Given the description of an element on the screen output the (x, y) to click on. 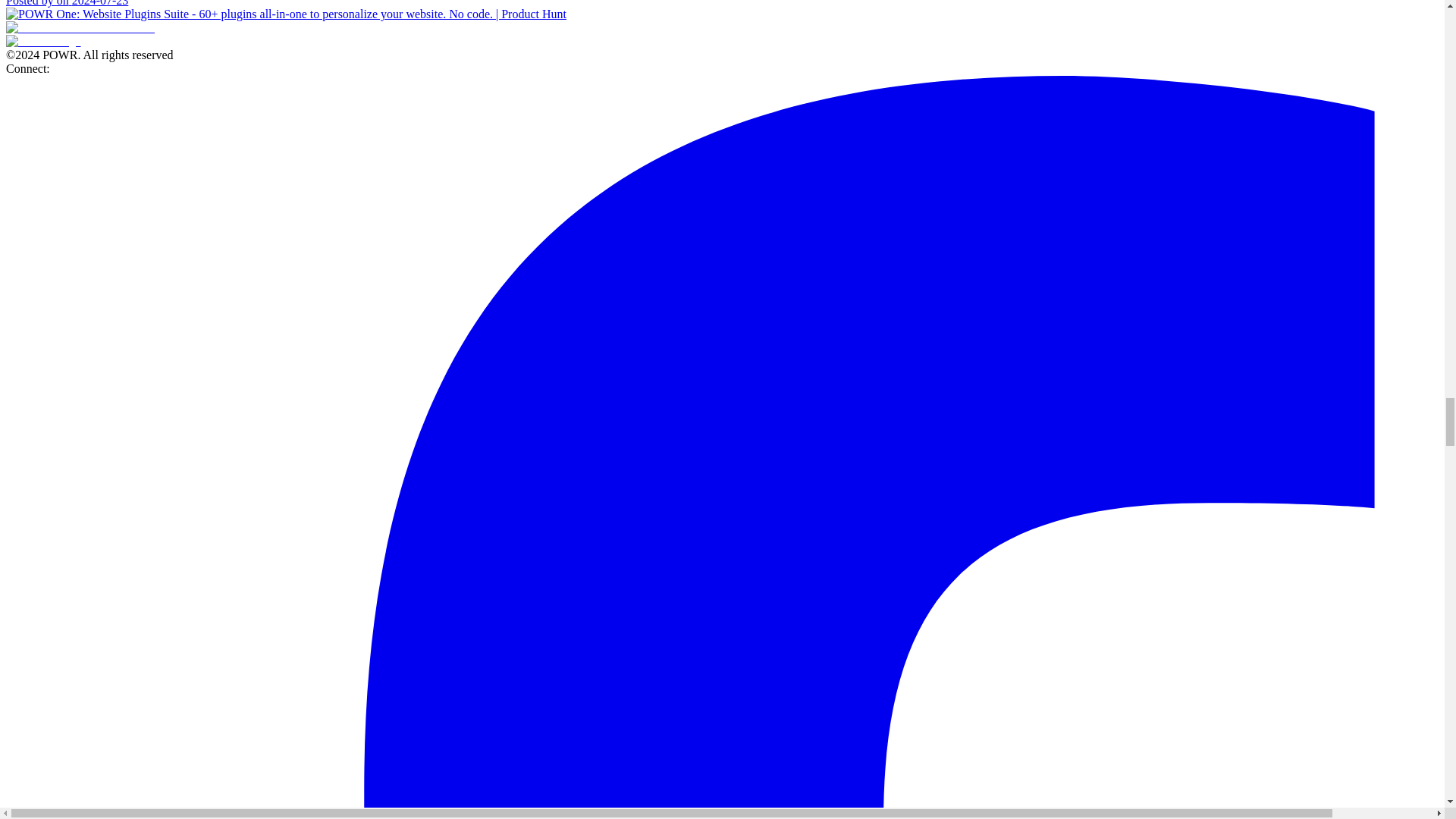
Read reviews of POWR on G2 (79, 27)
